Given the description of an element on the screen output the (x, y) to click on. 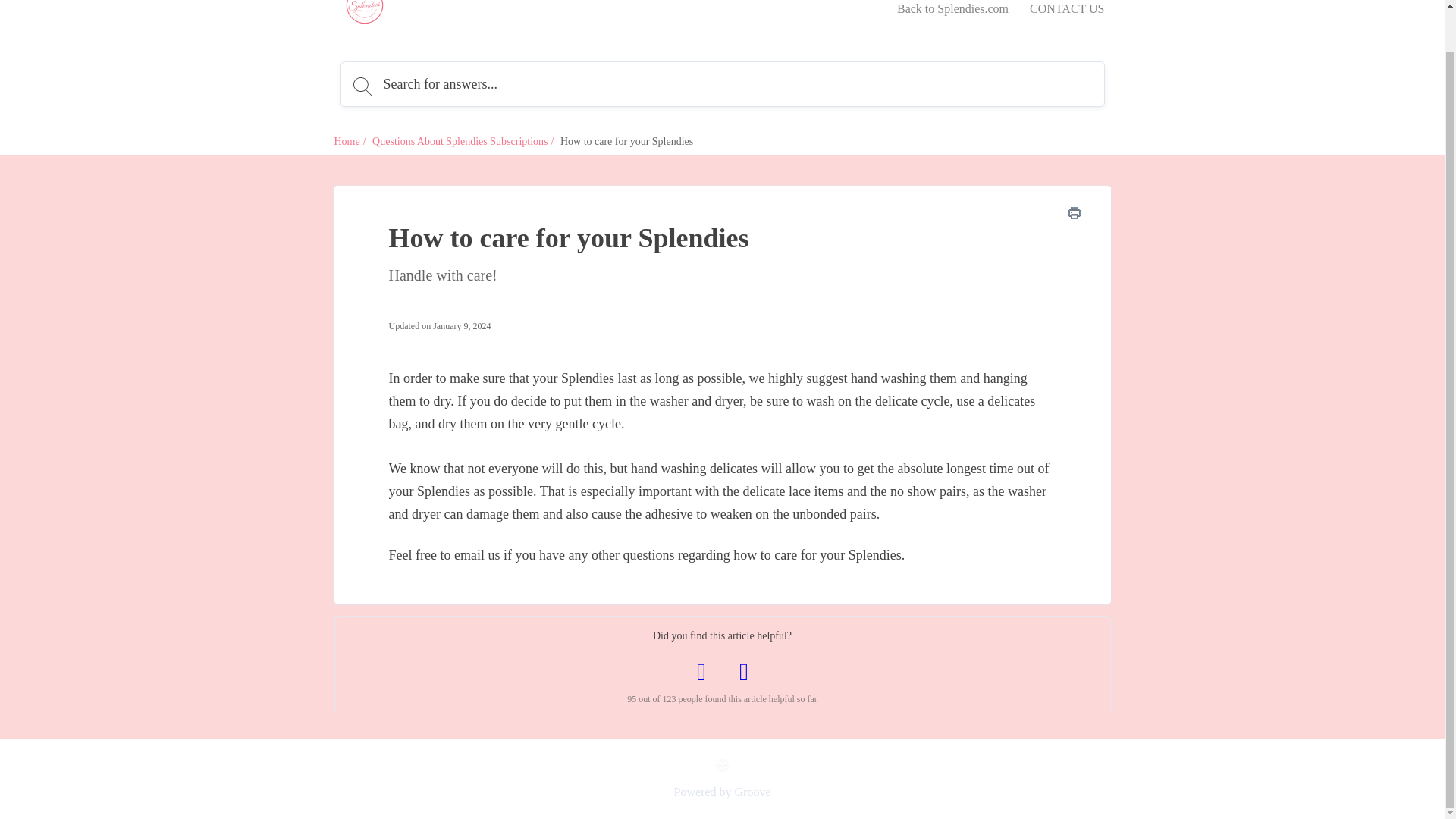
Powered by Groove (721, 790)
Home (346, 141)
CONTACT US (1066, 8)
Questions About Splendies Subscriptions (459, 141)
Back to Splendies.com (952, 8)
